Given the description of an element on the screen output the (x, y) to click on. 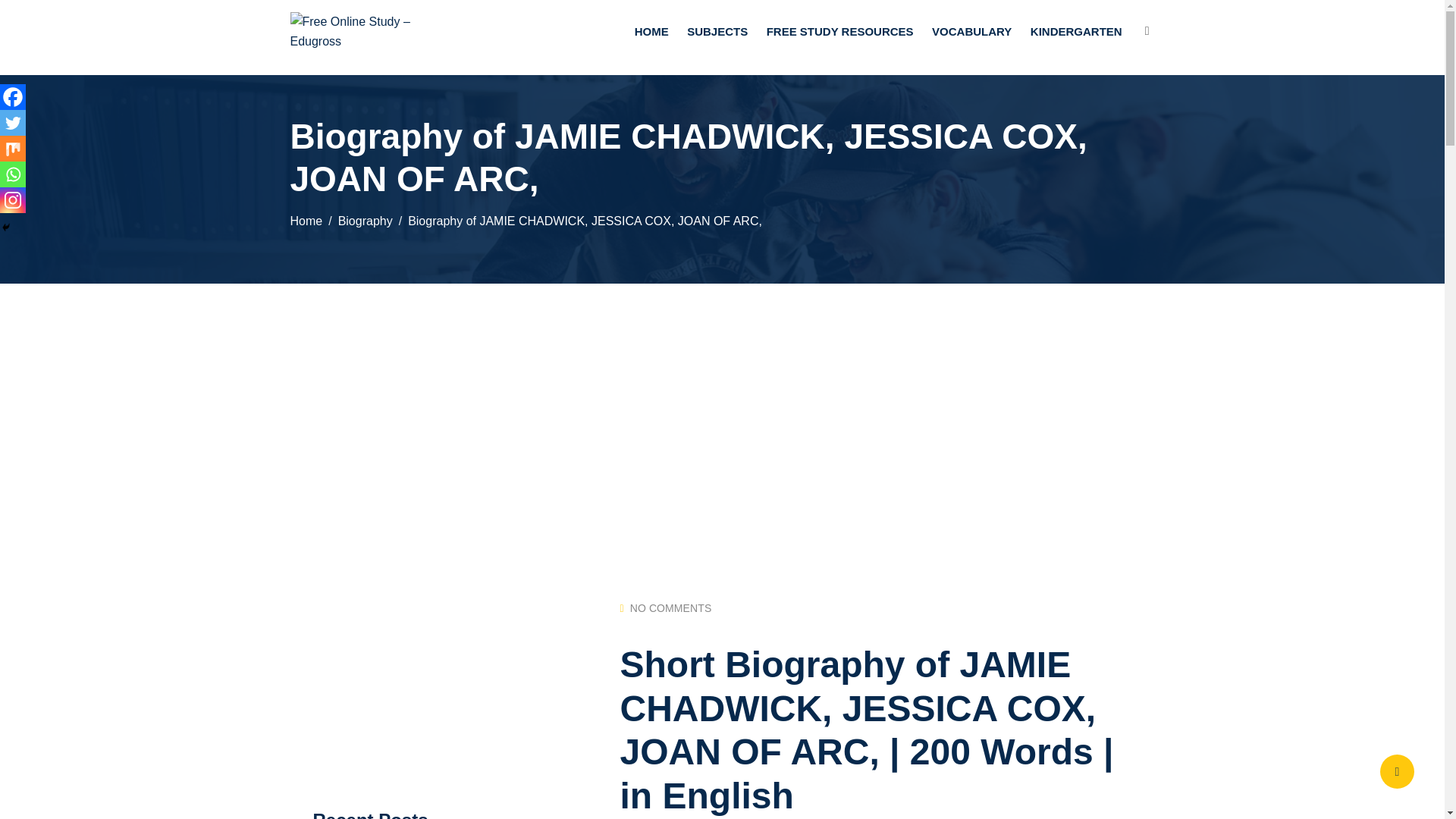
Mix (13, 148)
Twitter (13, 122)
Instagram (13, 199)
Whatsapp (13, 174)
Advertisement (425, 677)
Facebook (13, 96)
